Given the description of an element on the screen output the (x, y) to click on. 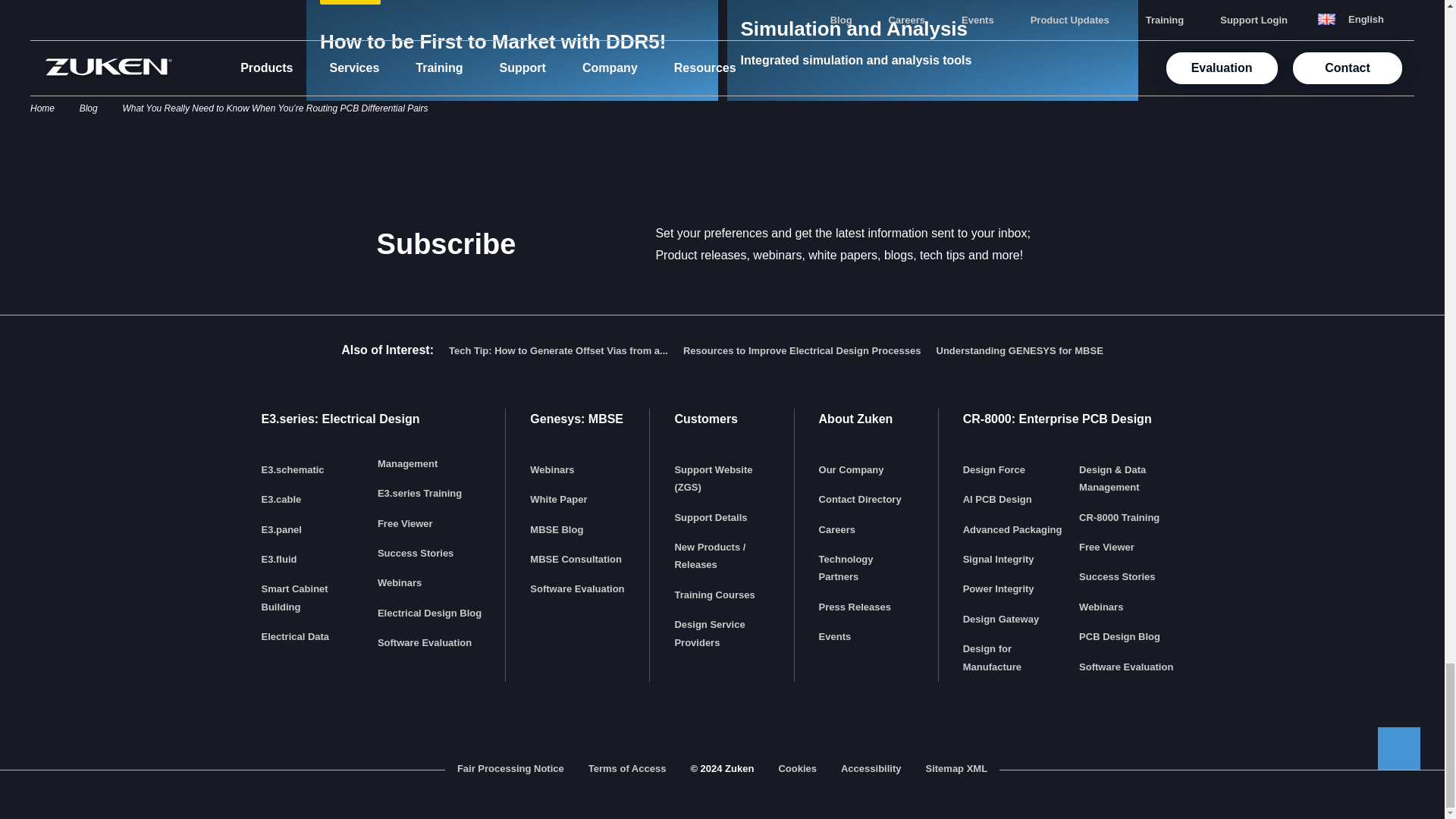
Linkedin (631, 734)
Twitter (721, 734)
Facebook (676, 734)
Youtube (767, 734)
Instagram (813, 734)
